Given the description of an element on the screen output the (x, y) to click on. 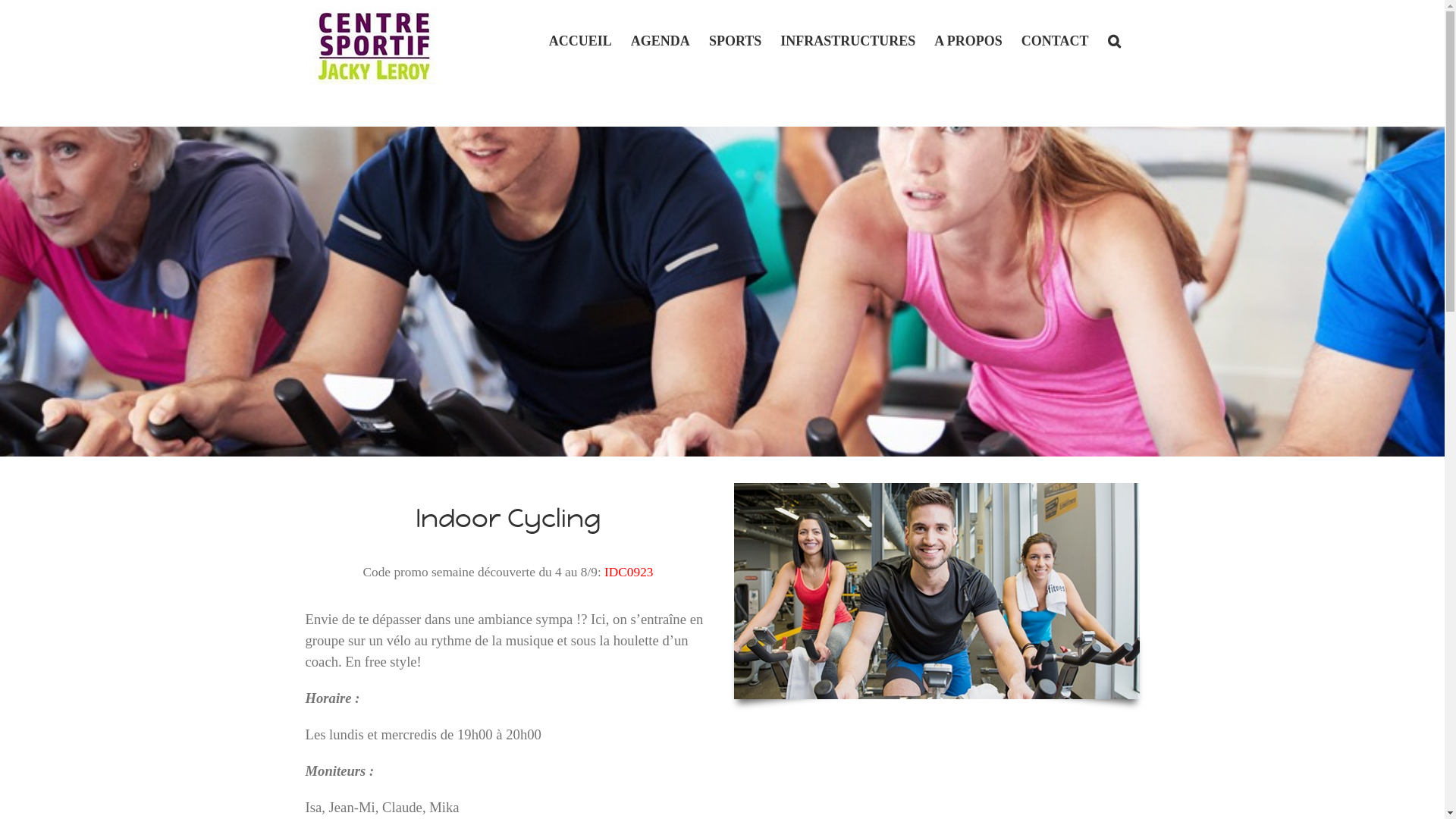
CONTACT Element type: text (1054, 39)
SPORTS Element type: text (735, 39)
ACCUEIL Element type: text (580, 39)
A PROPOS Element type: text (968, 39)
Search Element type: hover (1113, 39)
INFRASTRUCTURES Element type: text (847, 39)
AGENDA Element type: text (660, 39)
indoor-cycling-sport Element type: hover (936, 591)
